Given the description of an element on the screen output the (x, y) to click on. 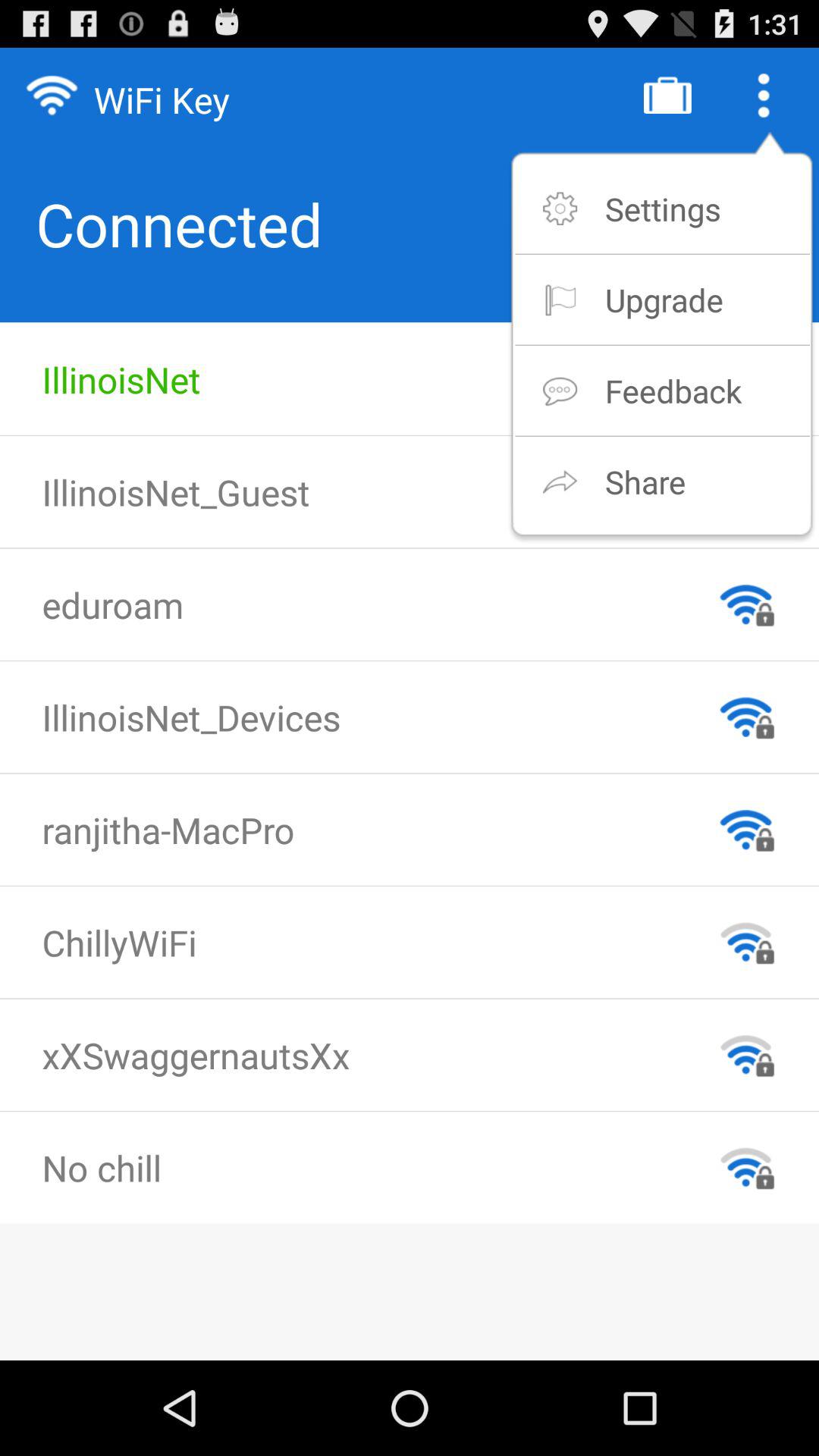
choose the feedback icon (673, 390)
